Given the description of an element on the screen output the (x, y) to click on. 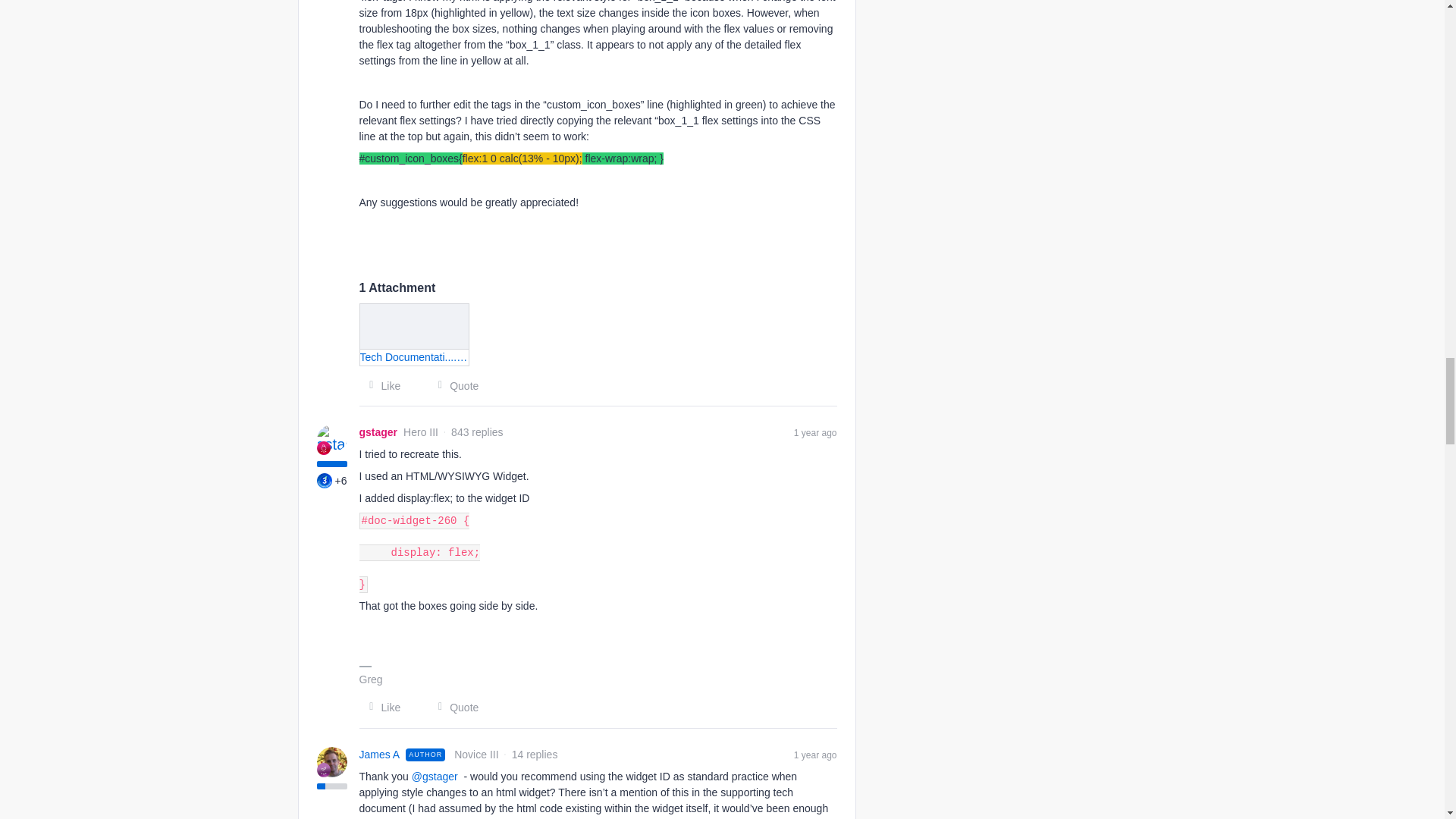
Community 3rd Birthday (324, 480)
Like (380, 385)
Hero III (323, 448)
Novice III (323, 769)
James A (379, 754)
gstager (378, 432)
Tech Documentati... (414, 334)
Quote (453, 385)
